Given the description of an element on the screen output the (x, y) to click on. 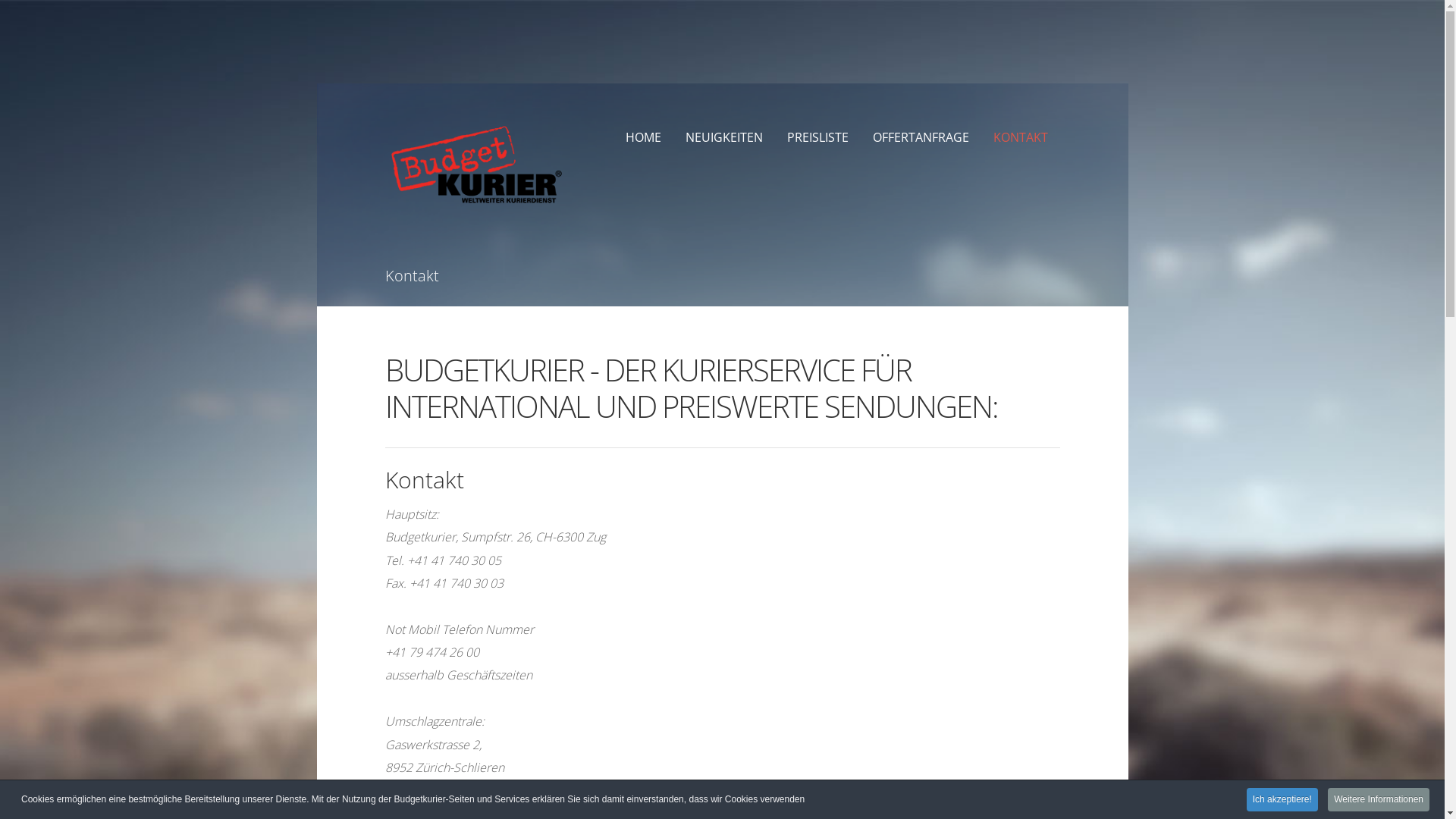
Ich akzeptiere! Element type: text (1281, 799)
Weitere Informationen Element type: text (1378, 799)
KONTAKT Element type: text (1020, 137)
HOME Element type: text (642, 137)
NEUIGKEITEN Element type: text (724, 137)
OFFERTANFRAGE Element type: text (919, 137)
PREISLISTE Element type: text (817, 137)
